Given the description of an element on the screen output the (x, y) to click on. 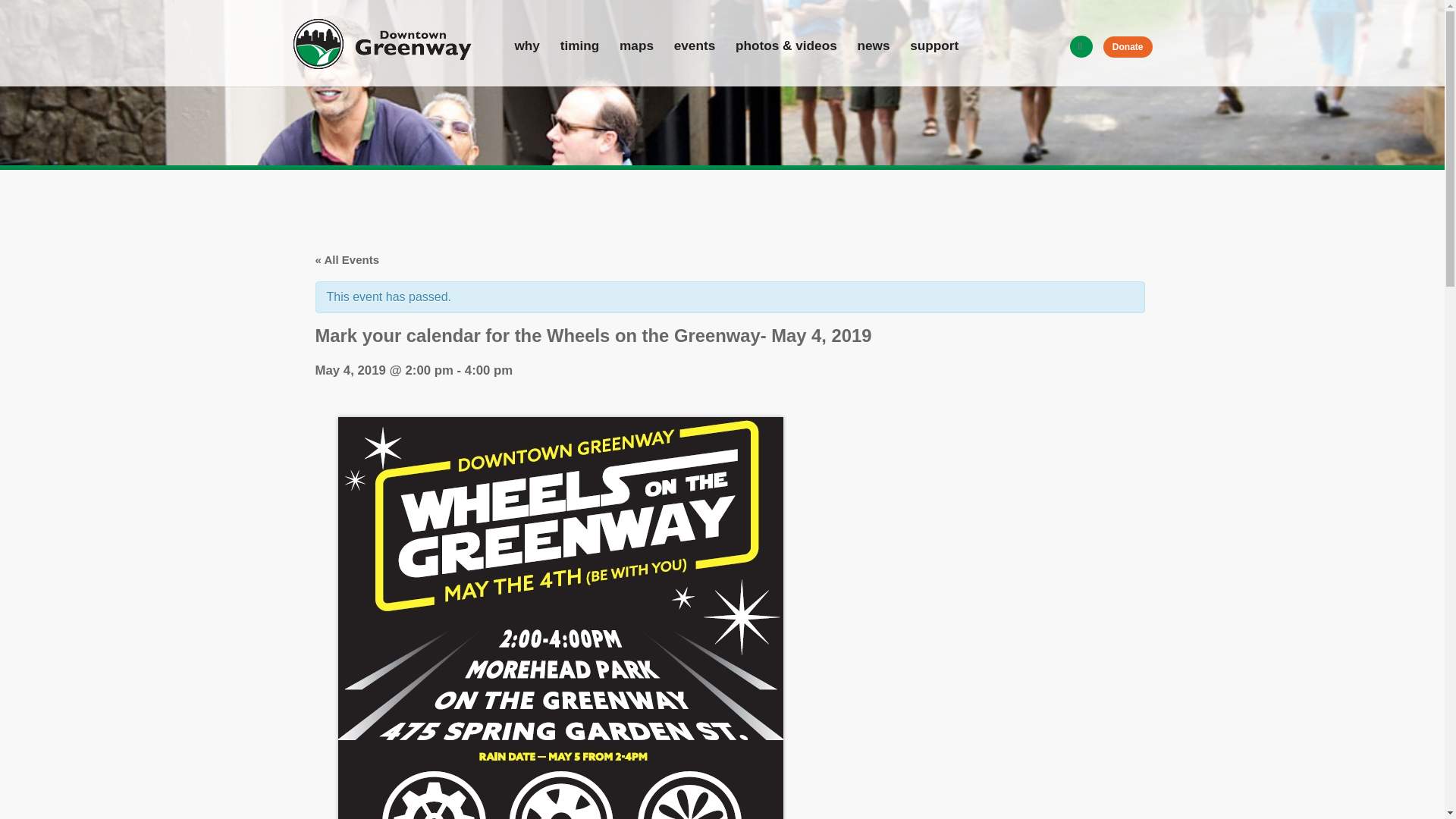
Donate (1128, 46)
